Given the description of an element on the screen output the (x, y) to click on. 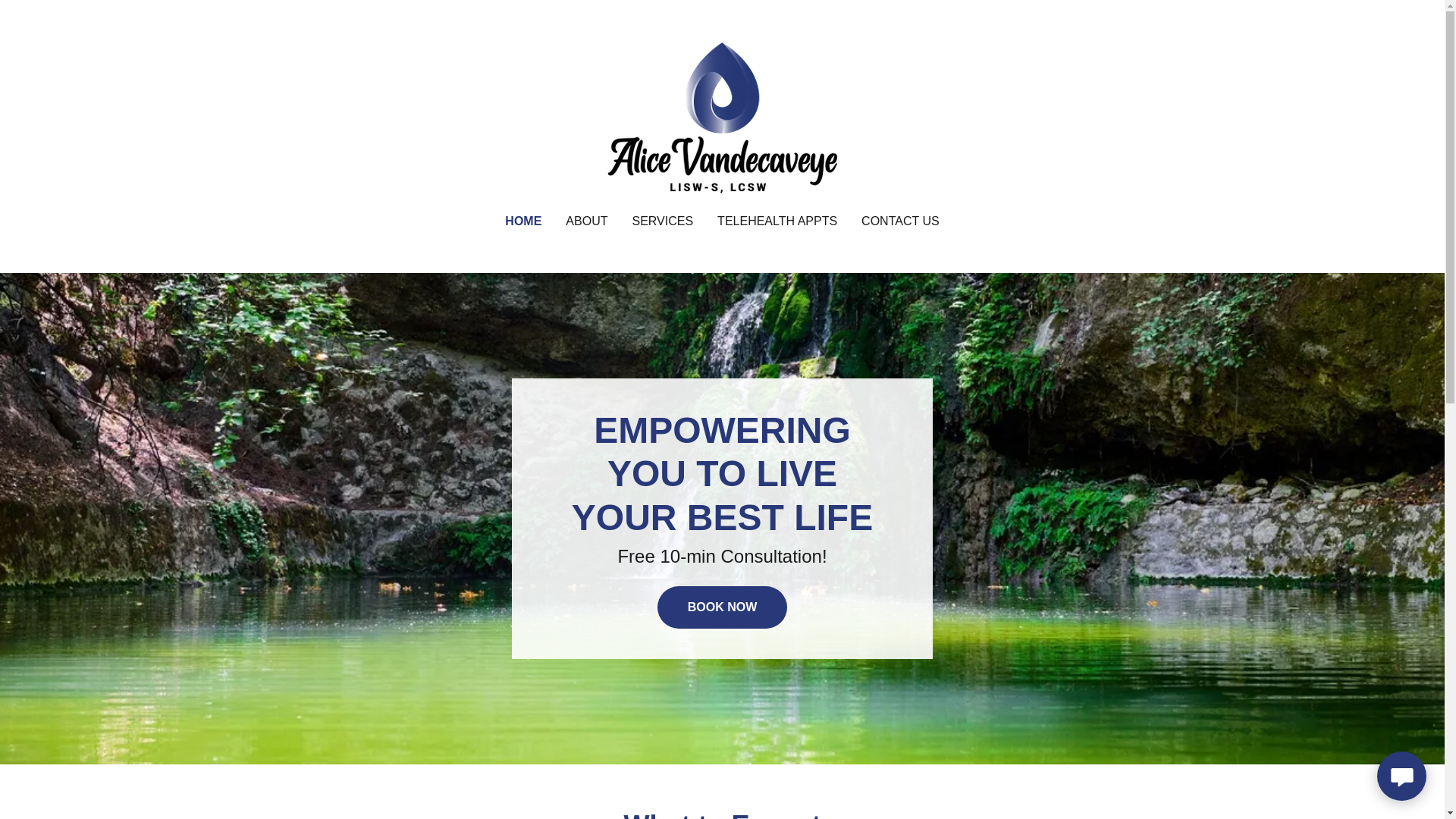
ABOUT (585, 221)
SERVICES (722, 117)
TELEHEALTH APPTS (662, 221)
BOOK NOW (777, 221)
CONTACT US (722, 607)
HOME (900, 221)
